Given the description of an element on the screen output the (x, y) to click on. 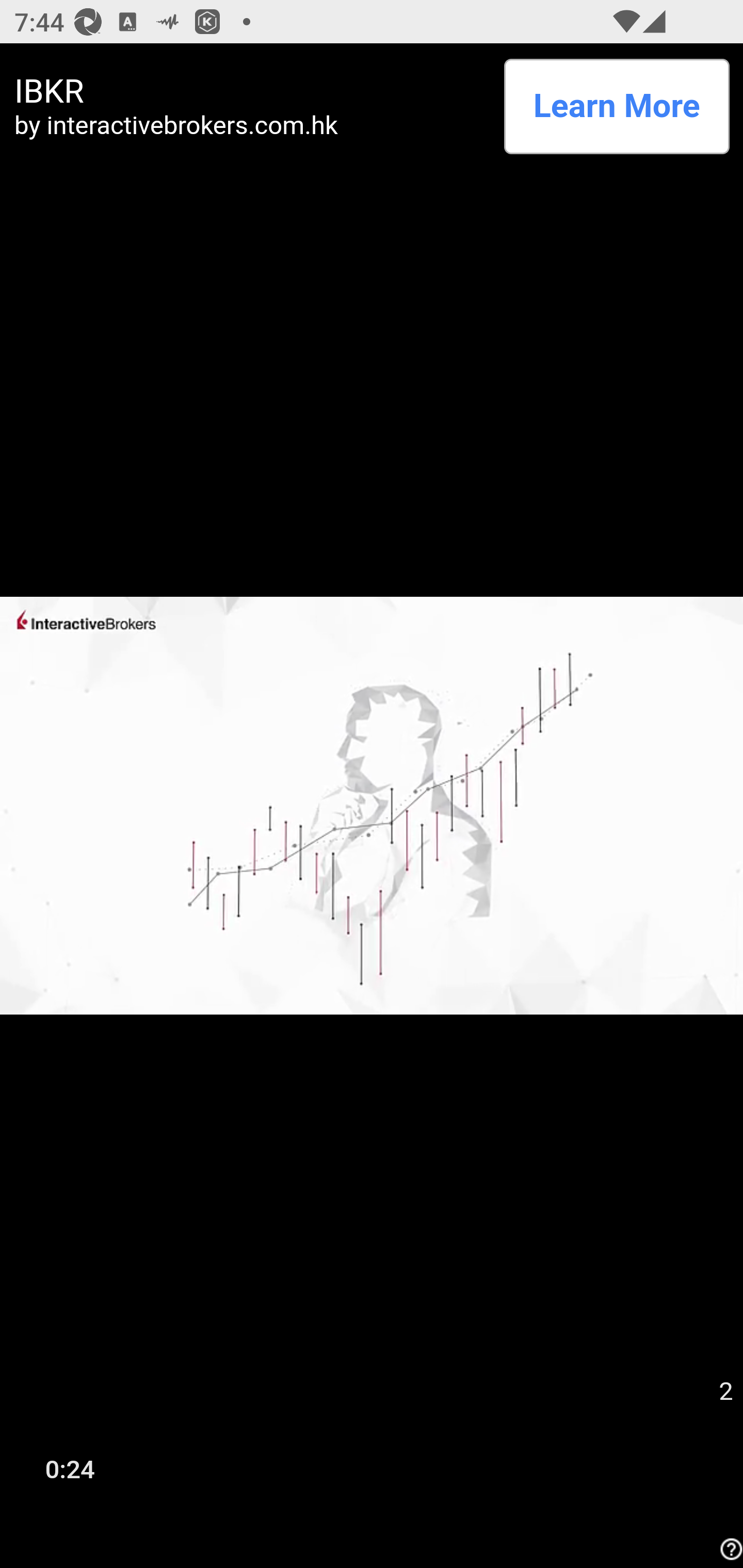
Learn More (616, 106)
IBKR (252, 91)
by interactivebrokers.com.hk (252, 125)
Skip Ad Countdown (725, 1391)
0:25 (70, 1468)
help_outline_white_24dp_with_3px_trbl_padding (728, 1548)
